Given the description of an element on the screen output the (x, y) to click on. 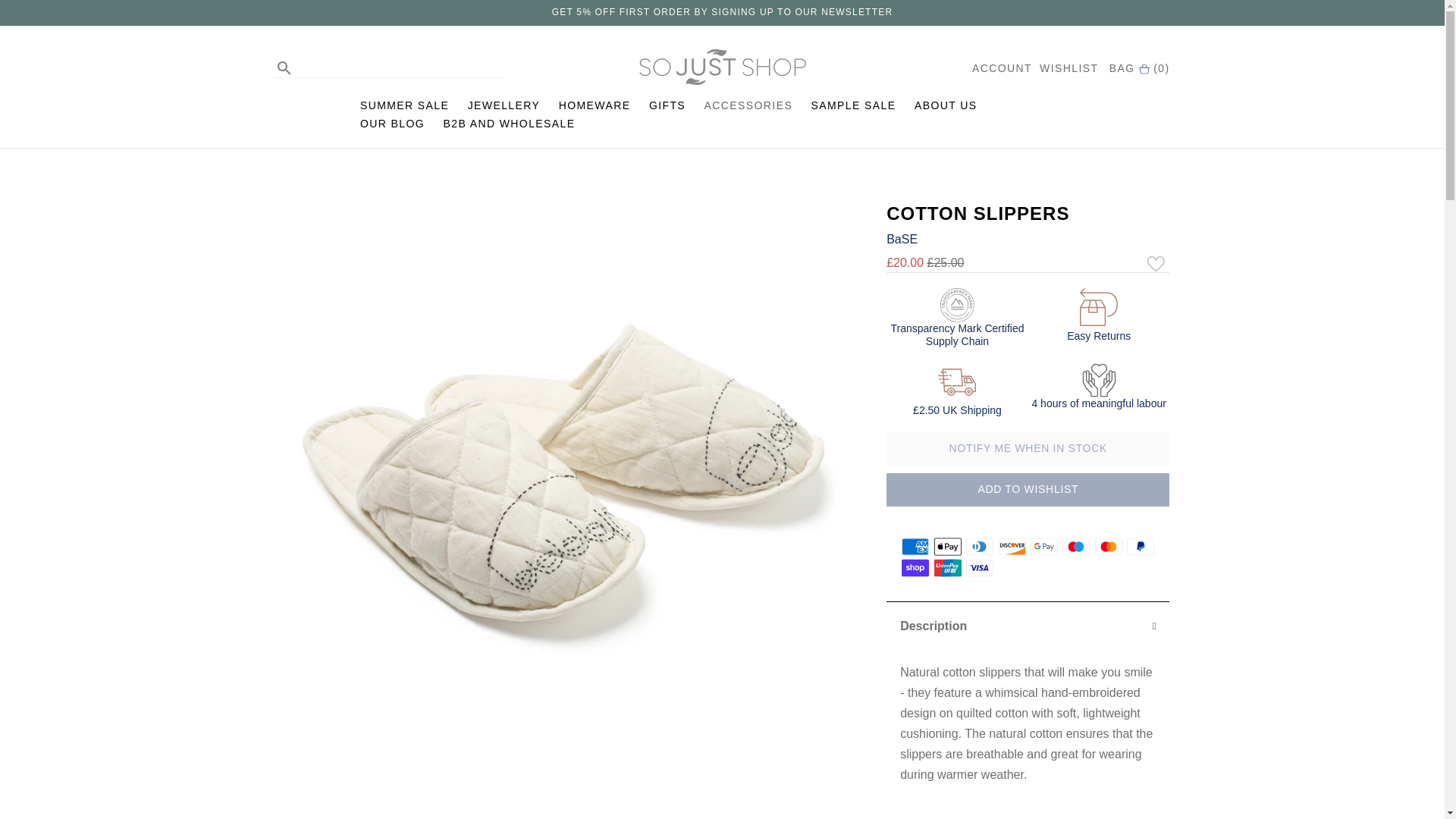
Mastercard (1108, 546)
PayPal (1140, 546)
Page 10 (1027, 739)
HOMEWARE (594, 105)
ACCOUNT (1002, 68)
Shop Pay (914, 567)
American Express (914, 546)
Diners Club (979, 546)
WISHLIST (1068, 68)
Maestro (1075, 546)
Visa (979, 567)
BaSE (901, 238)
SUMMER SALE (403, 105)
Union Pay (947, 567)
Apple Pay (947, 546)
